Given the description of an element on the screen output the (x, y) to click on. 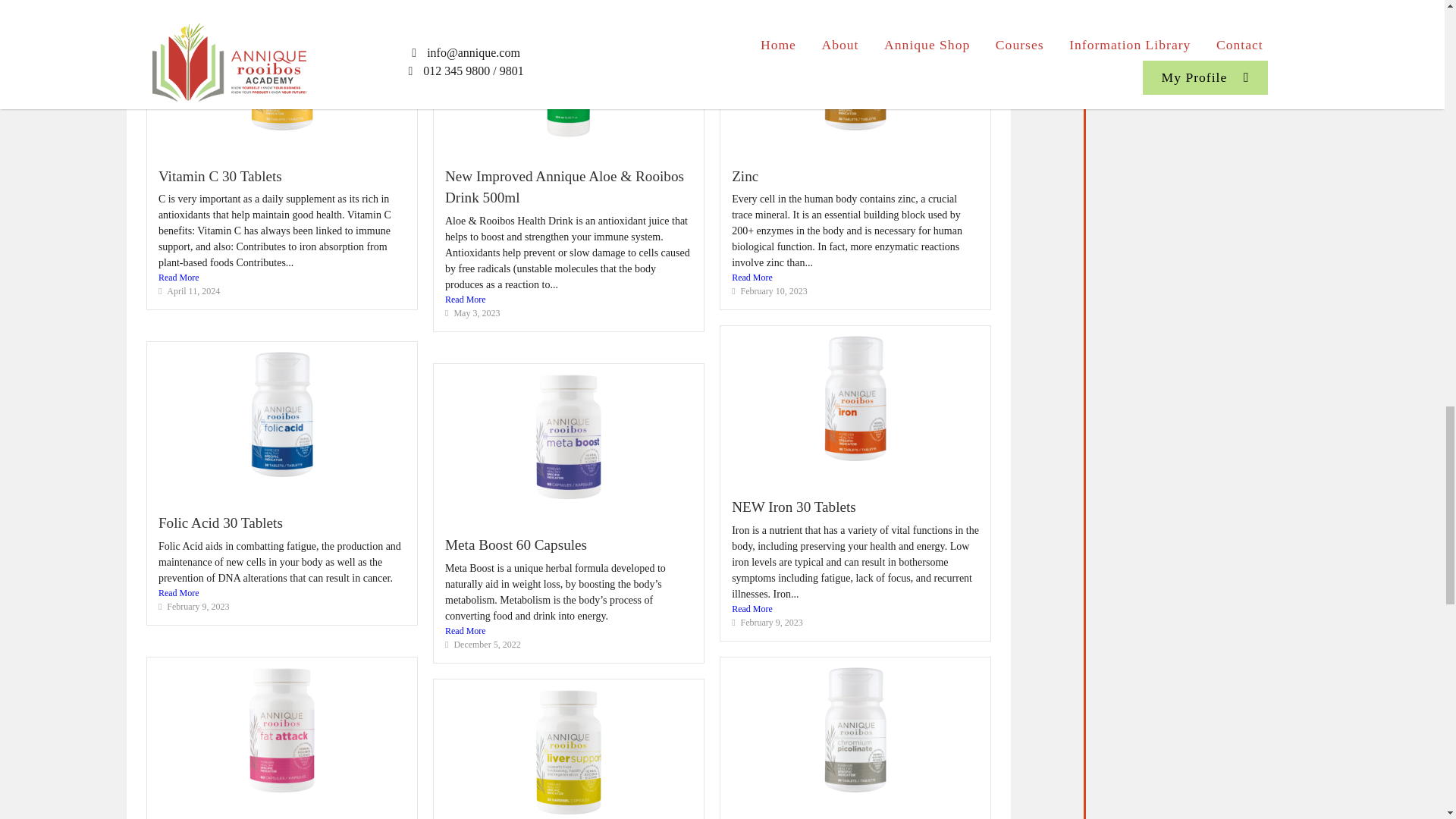
NEW Iron 30 Tablets (794, 506)
Vitamin C 30 Tablets (220, 176)
Folic Acid 30 Tablets (220, 522)
Meta Boost 60 Capsules (515, 544)
Zinc (745, 176)
